Given the description of an element on the screen output the (x, y) to click on. 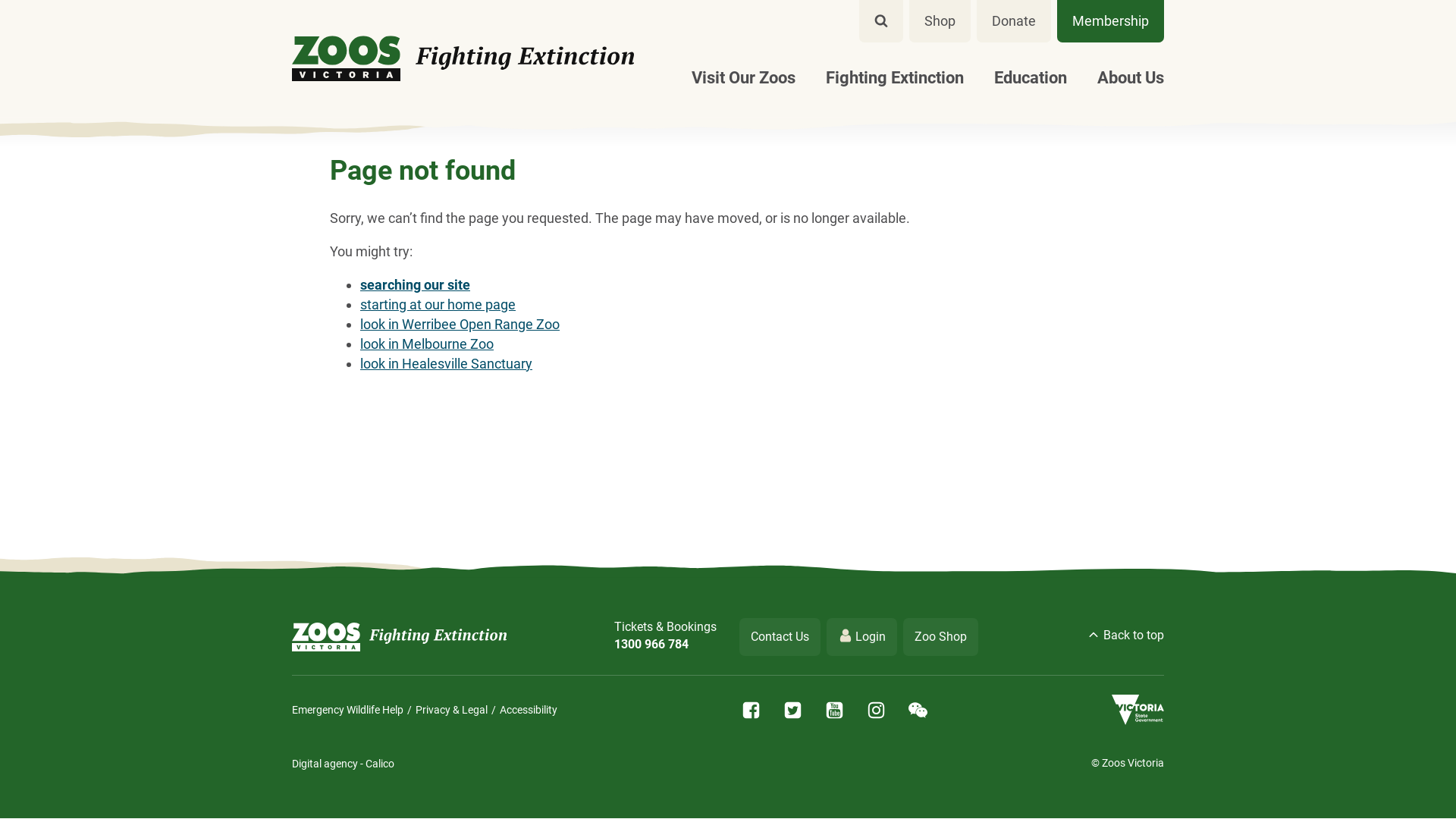
Contact Us Element type: text (779, 636)
Education Element type: text (1030, 77)
Fighting Extinction Element type: text (894, 77)
look in Melbourne Zoo Element type: text (426, 343)
look in Healesville Sanctuary Element type: text (446, 363)
1300 966 784 Element type: text (665, 643)
Donate Element type: text (1013, 21)
searching our site Element type: text (415, 284)
Privacy & Legal Element type: text (451, 709)
starting at our home page Element type: text (437, 304)
Membership Element type: text (1110, 21)
Visit Our Zoos Element type: text (743, 77)
Digital agency - Calico Element type: text (342, 763)
Zoo Shop Element type: text (940, 636)
Back to top Element type: text (1124, 636)
Emergency Wildlife Help Element type: text (347, 709)
Accessibility Element type: text (528, 709)
Shop Element type: text (939, 21)
Login Element type: text (861, 636)
look in Werribee Open Range Zoo Element type: text (459, 324)
About Us Element type: text (1123, 77)
